Given the description of an element on the screen output the (x, y) to click on. 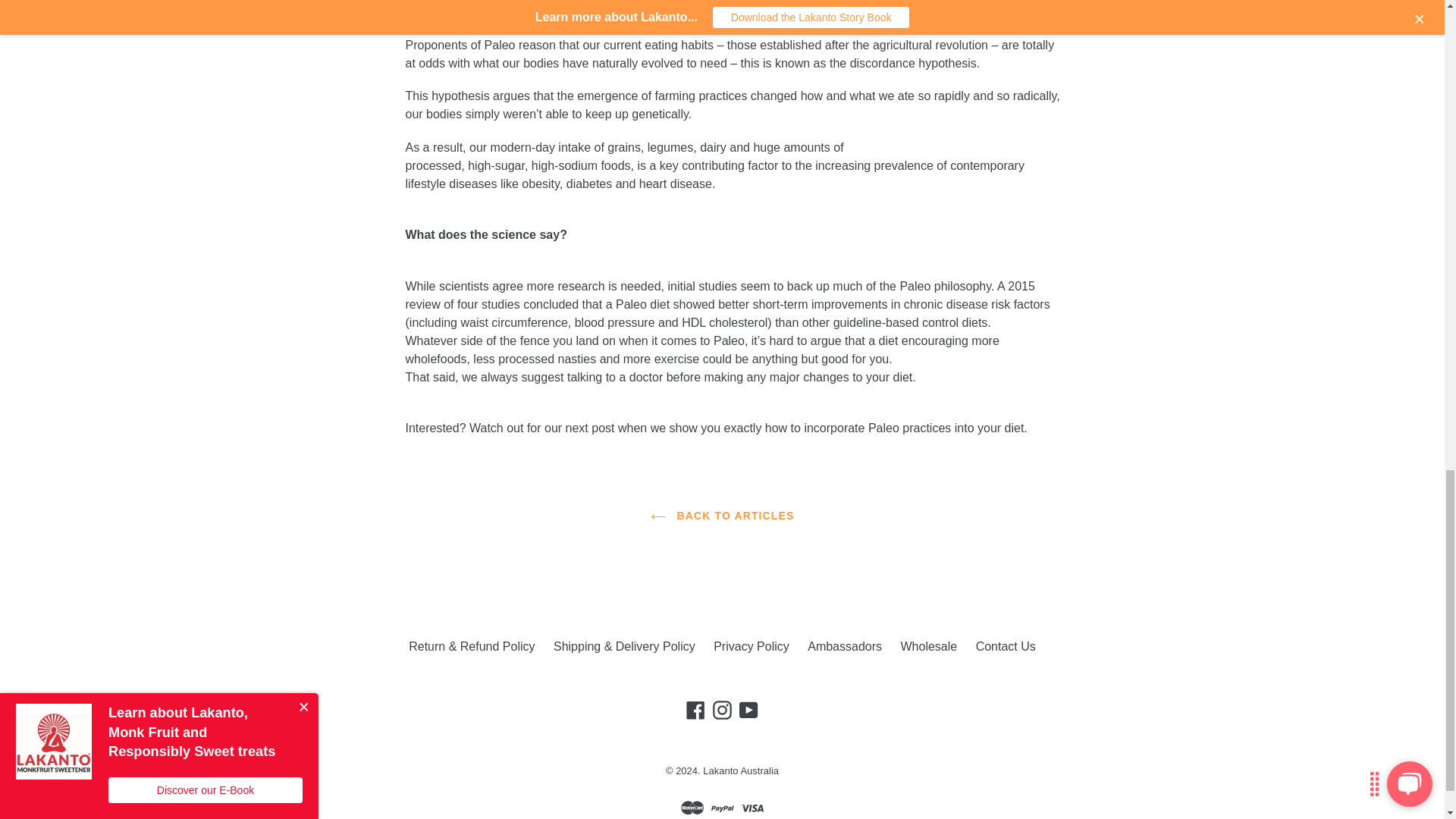
Lakanto Australia on YouTube (748, 709)
BACK TO ARTICLES (722, 515)
Lakanto Australia on Instagram (721, 709)
Privacy Policy (751, 646)
Lakanto Australia on Facebook (695, 709)
